Given the description of an element on the screen output the (x, y) to click on. 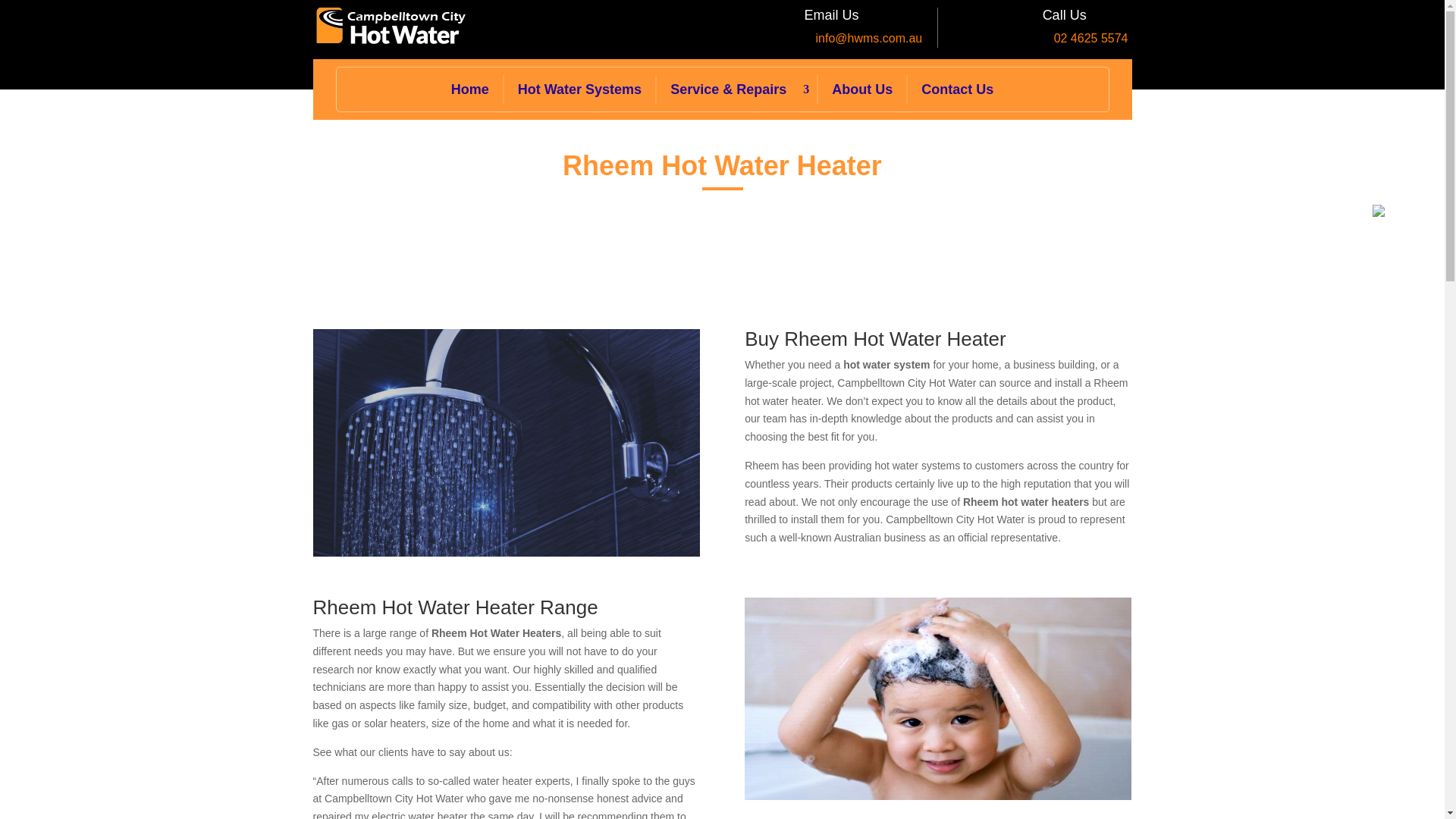
Hot Water Systems (580, 89)
Home (470, 89)
About Us (861, 89)
02 4625 5574 (1091, 38)
Contact Us (956, 89)
